Given the description of an element on the screen output the (x, y) to click on. 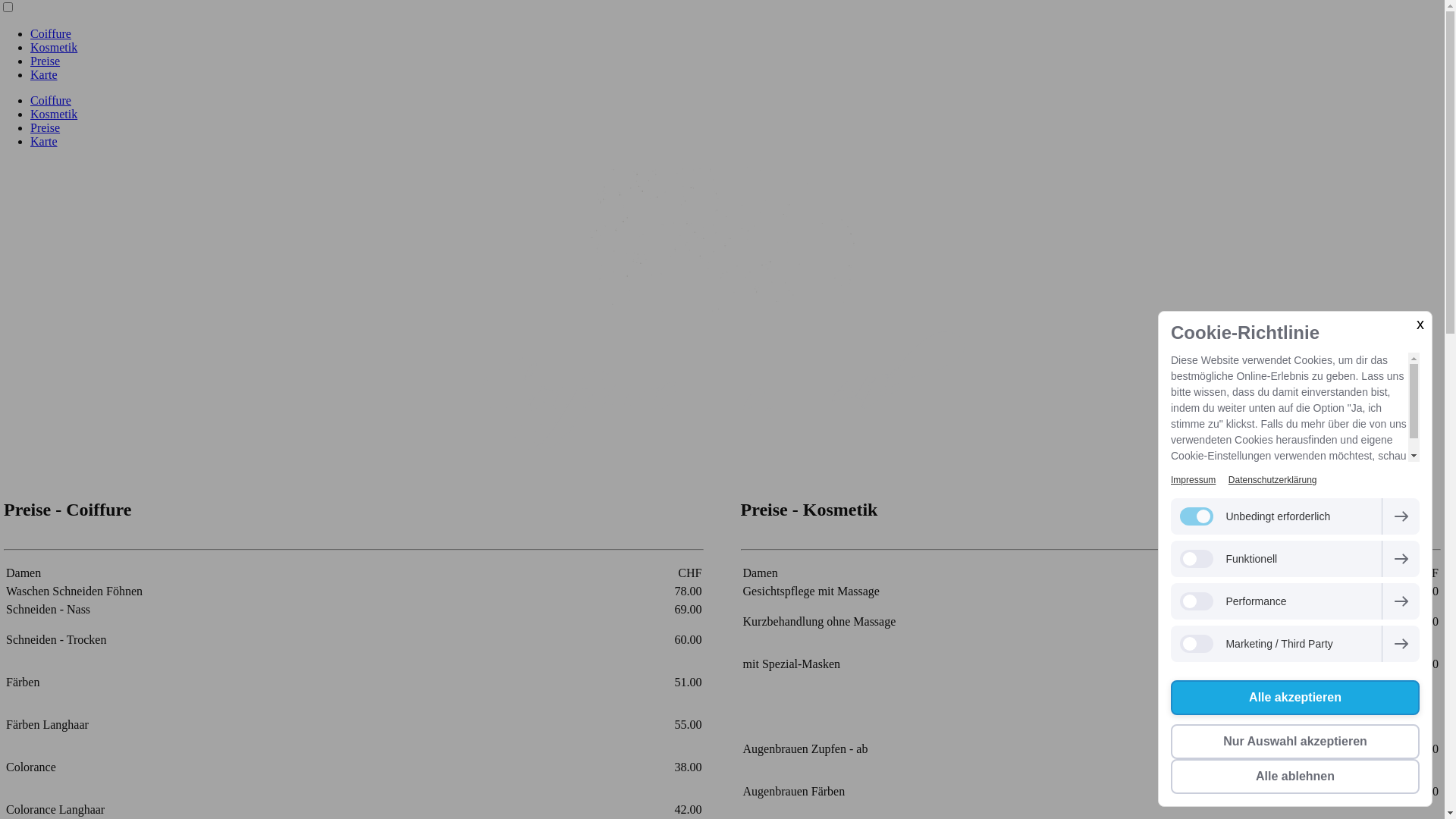
Kosmetik Element type: text (53, 113)
Karte Element type: text (43, 74)
Preise Element type: text (44, 60)
Impressum Element type: text (1192, 479)
Alle ablehnen Element type: text (1294, 776)
Nur Auswahl akzeptieren Element type: text (1294, 741)
Kosmetik Element type: text (53, 46)
Karte Element type: text (43, 140)
Coiffure Element type: text (50, 33)
Preise Element type: text (44, 127)
Alle akzeptieren Element type: text (1294, 697)
Coiffure Element type: text (50, 100)
